Given the description of an element on the screen output the (x, y) to click on. 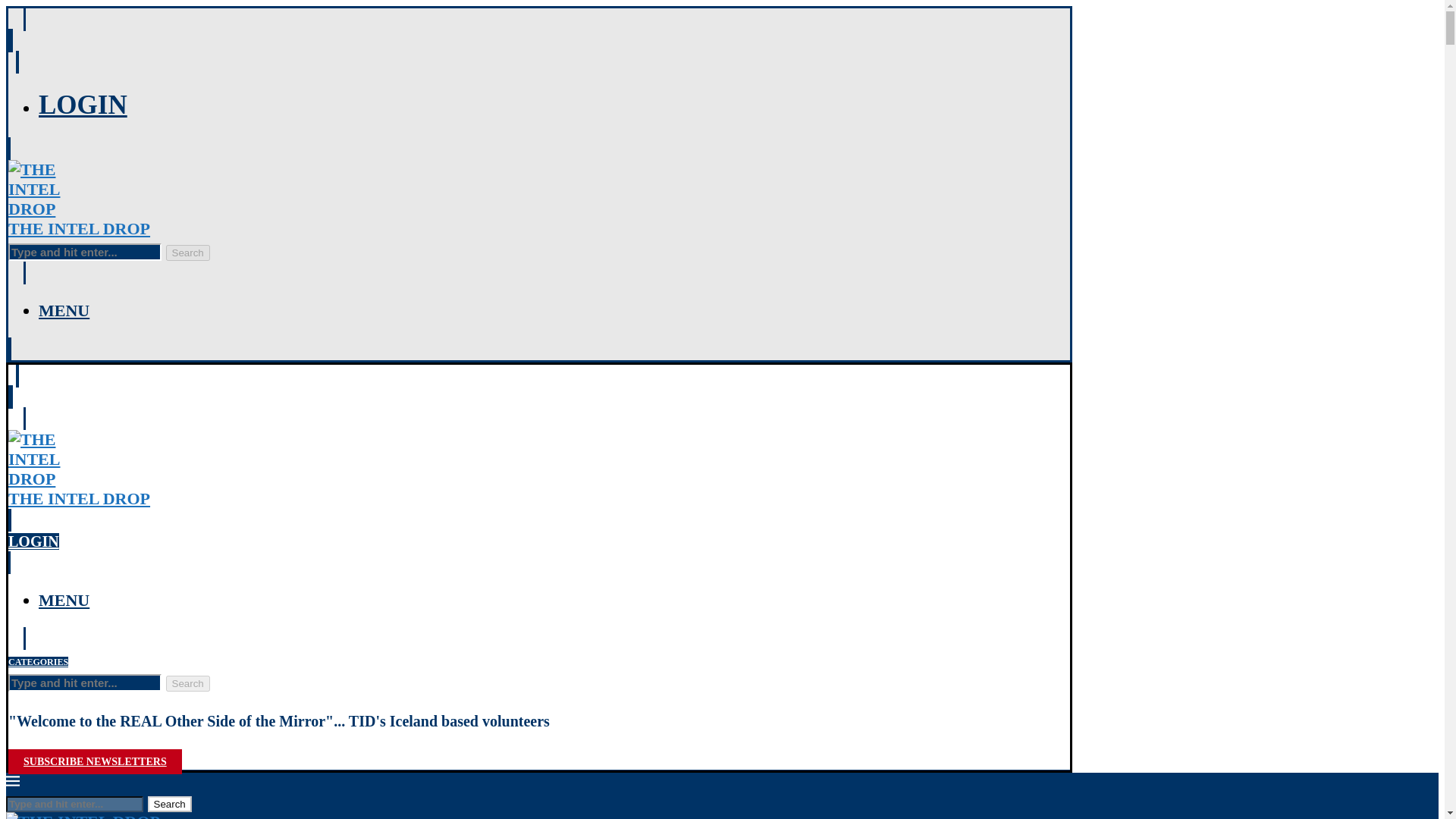
MENU (38, 661)
LOGIN (63, 599)
Search (33, 541)
MENU (187, 683)
SUBSCRIBE NEWSLETTERS (63, 310)
THE INTEL DROP (95, 761)
Search (539, 498)
LOGIN (187, 252)
